Given the description of an element on the screen output the (x, y) to click on. 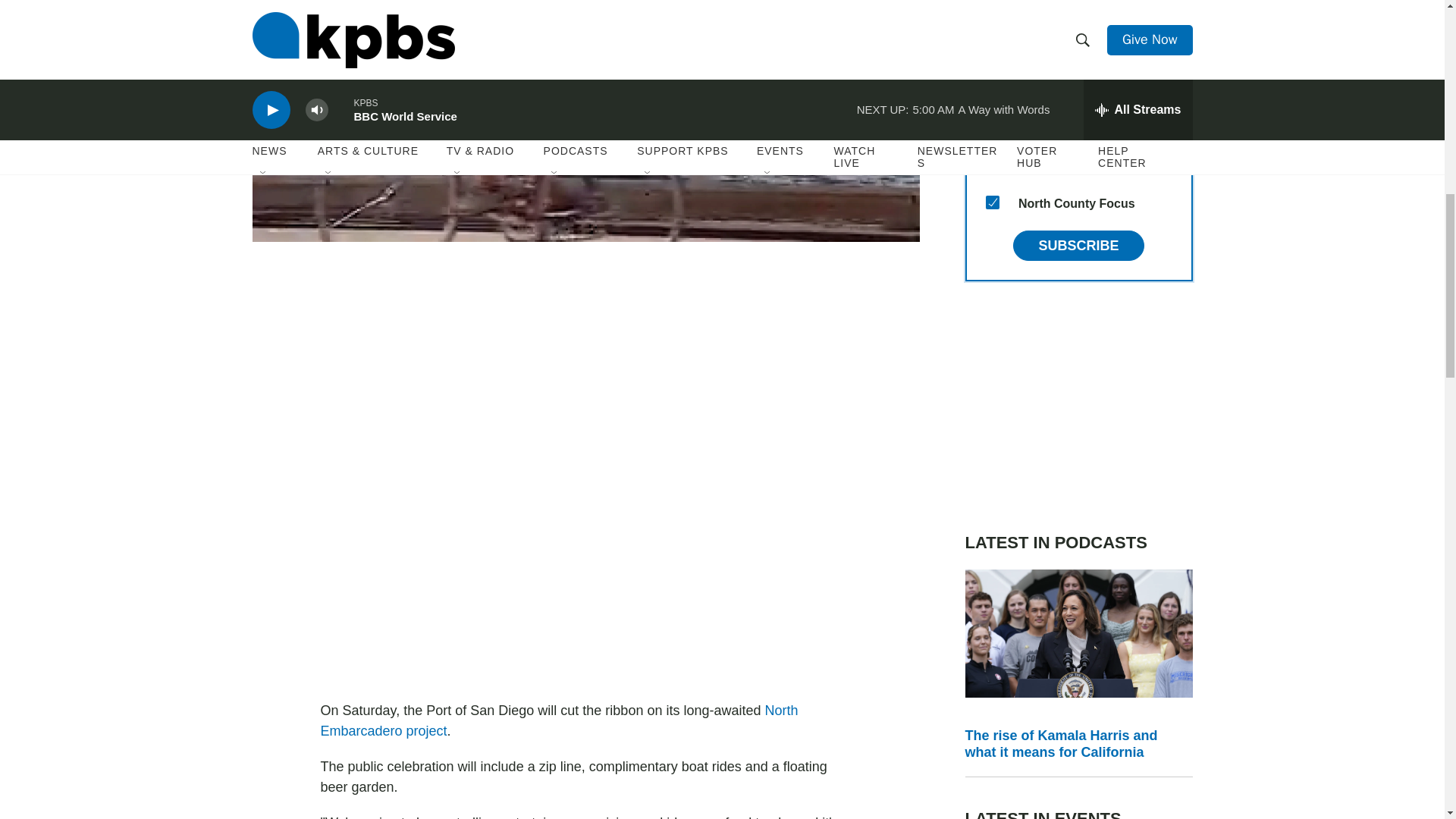
6 (991, 56)
15 (991, 202)
2 (991, 92)
8 (991, 165)
1 (991, 129)
3rd party ad content (1077, 406)
5 (991, 20)
